Given the description of an element on the screen output the (x, y) to click on. 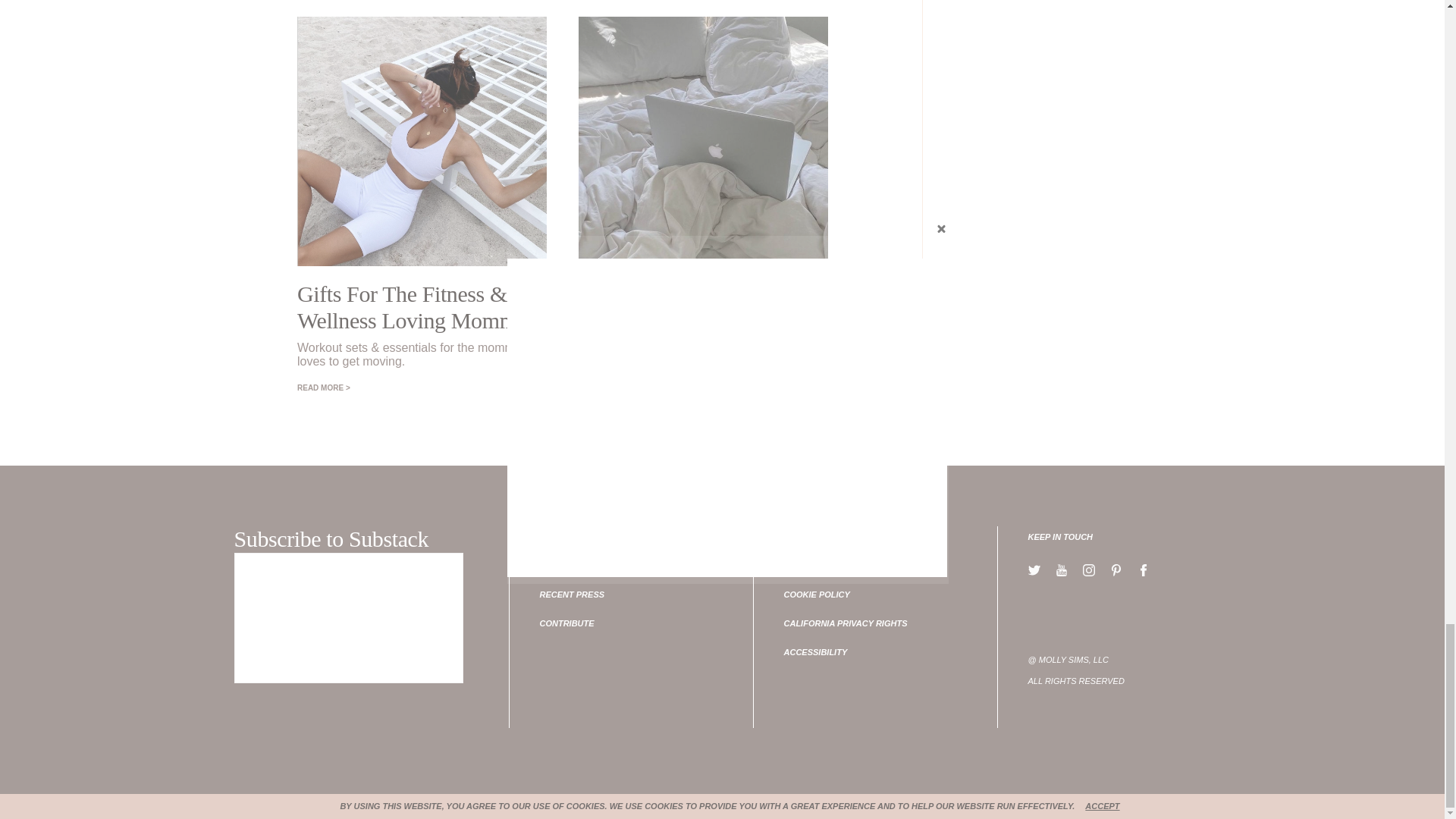
Page 1 (1111, 670)
